Given the description of an element on the screen output the (x, y) to click on. 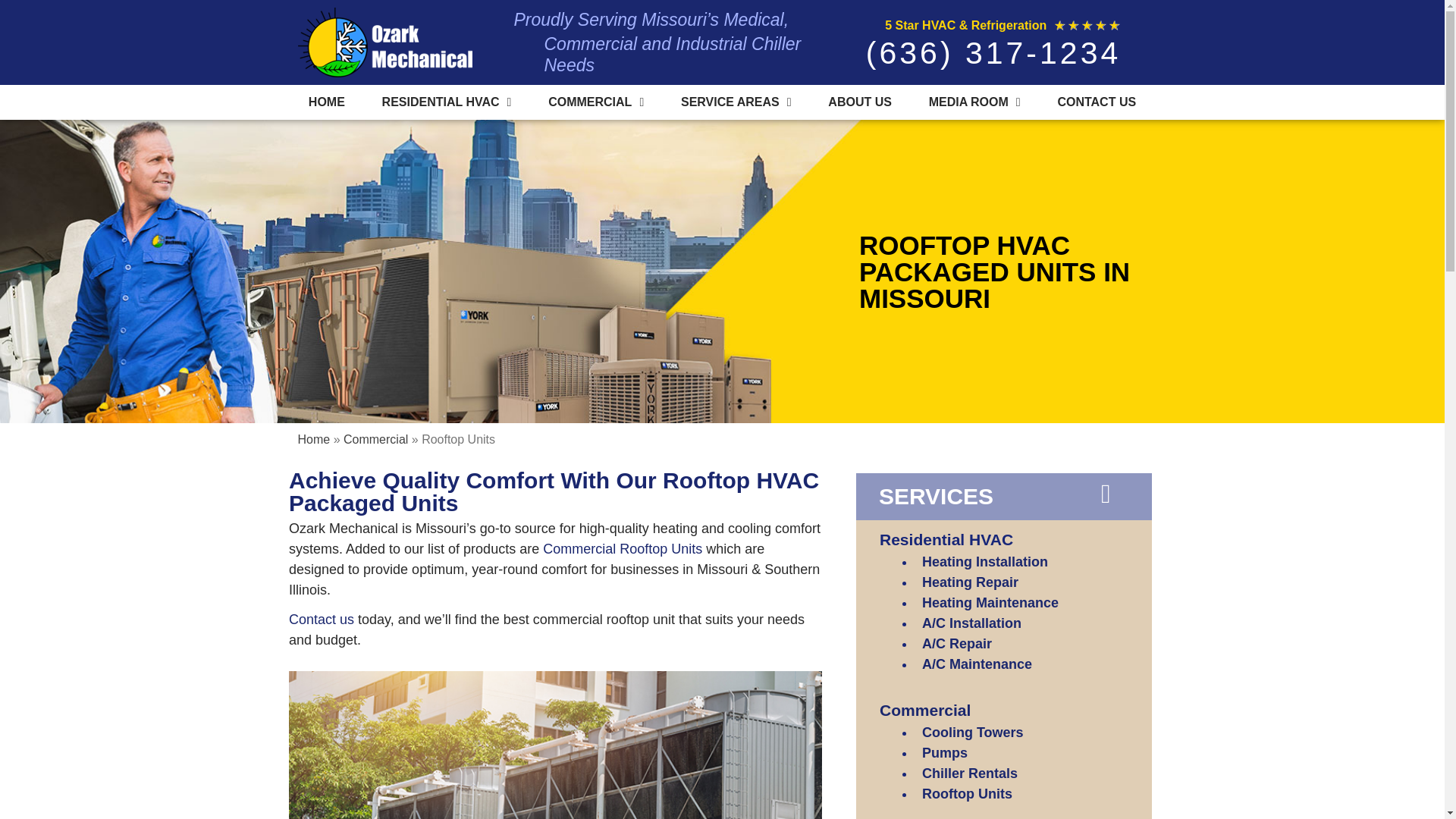
Search (1356, 792)
